Given the description of an element on the screen output the (x, y) to click on. 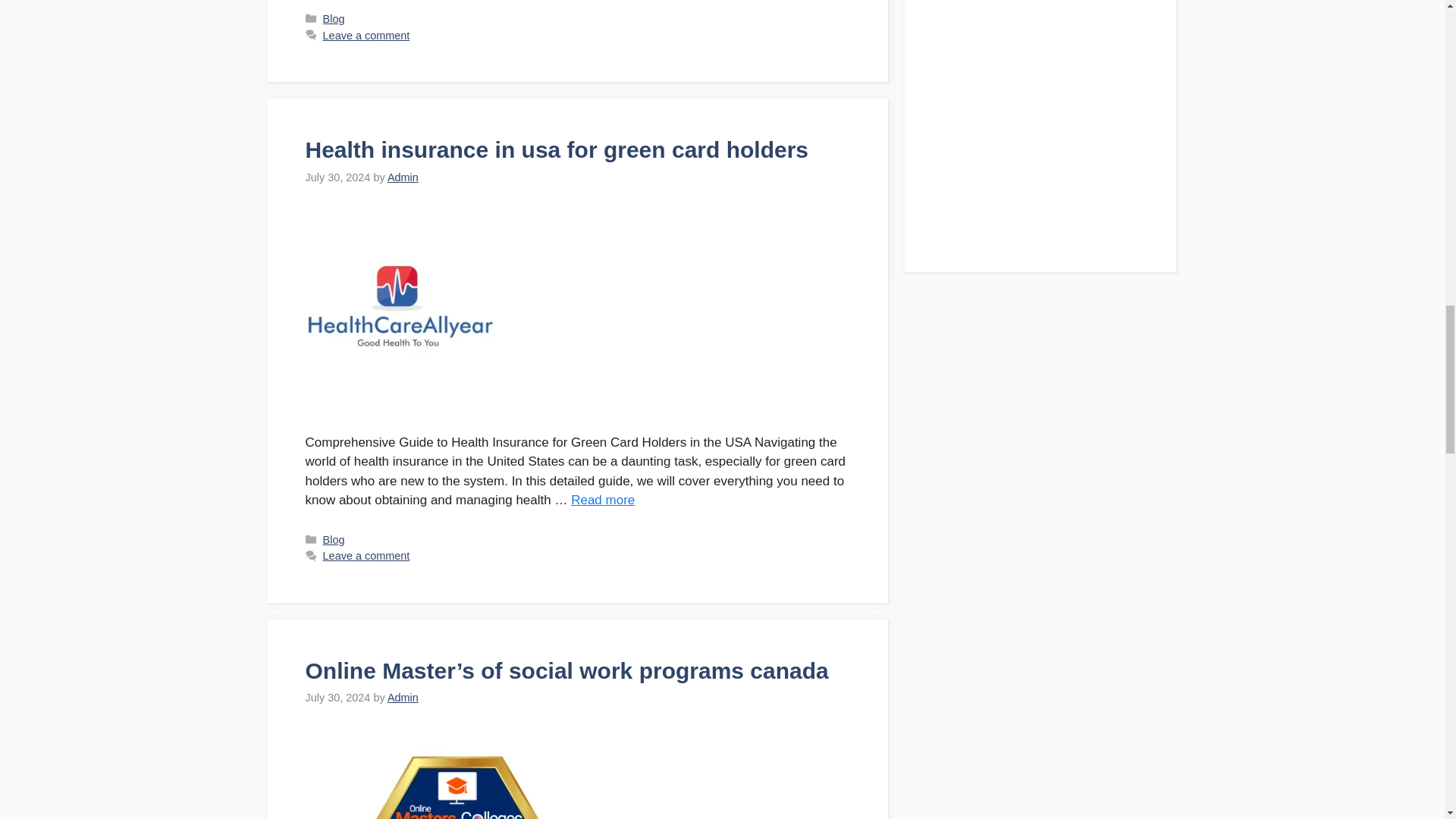
Admin (403, 177)
Blog (334, 539)
Admin (403, 697)
View all posts by Admin (403, 177)
Read more (602, 499)
Blog (334, 19)
View all posts by Admin (403, 697)
Health insurance in usa for green card holders (602, 499)
Leave a comment (366, 35)
Health insurance in usa for green card holders (556, 149)
Leave a comment (366, 555)
